Given the description of an element on the screen output the (x, y) to click on. 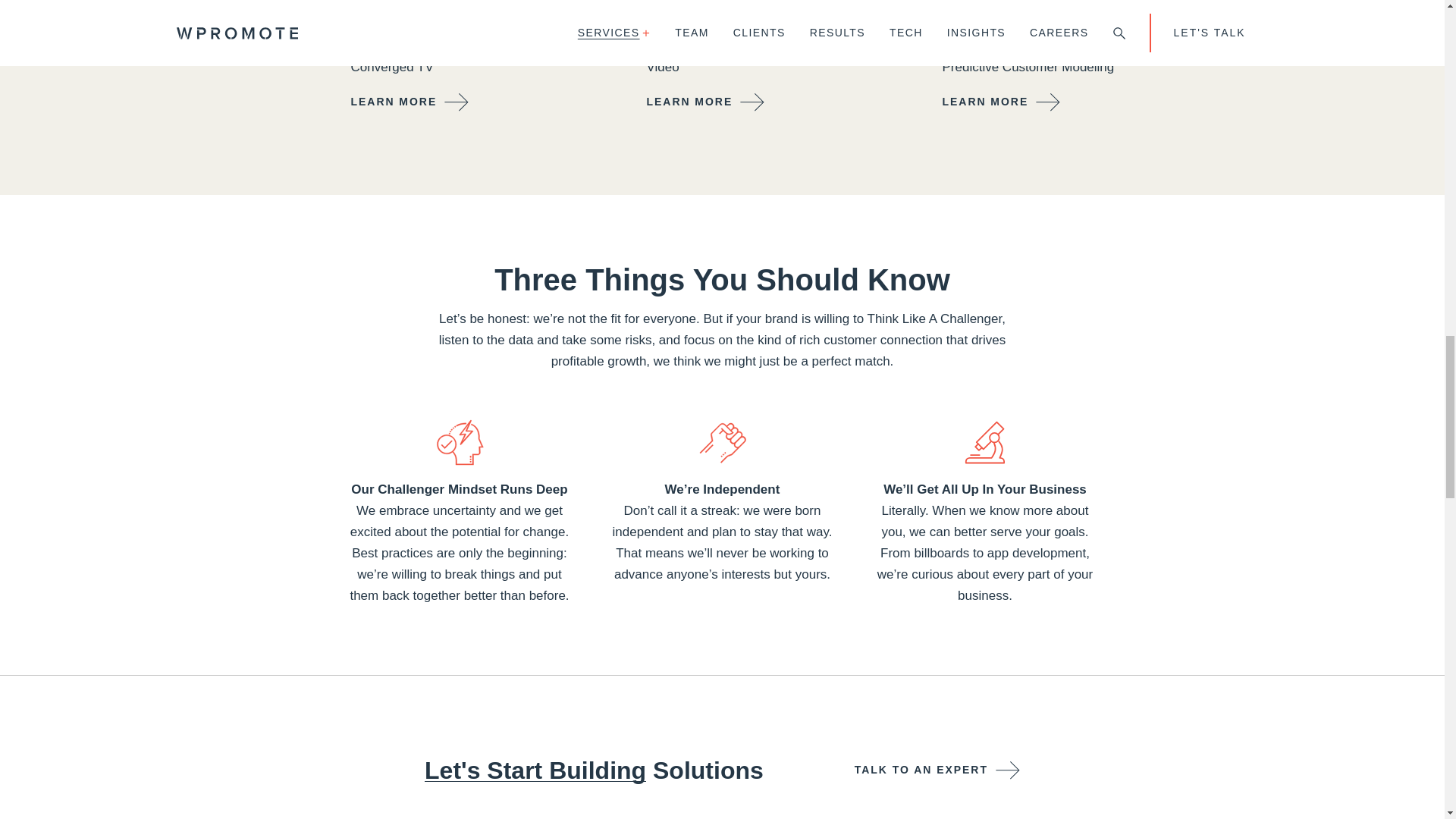
Digital Experience (759, 25)
Challenger Labs (1055, 7)
Converged TV (464, 66)
Performance Creative (464, 25)
Influencer Marketing (759, 7)
Affiliate Marketing (464, 46)
LEARN MORE (409, 102)
Video (759, 66)
Voice Search (759, 46)
LEARN MORE (705, 102)
